Given the description of an element on the screen output the (x, y) to click on. 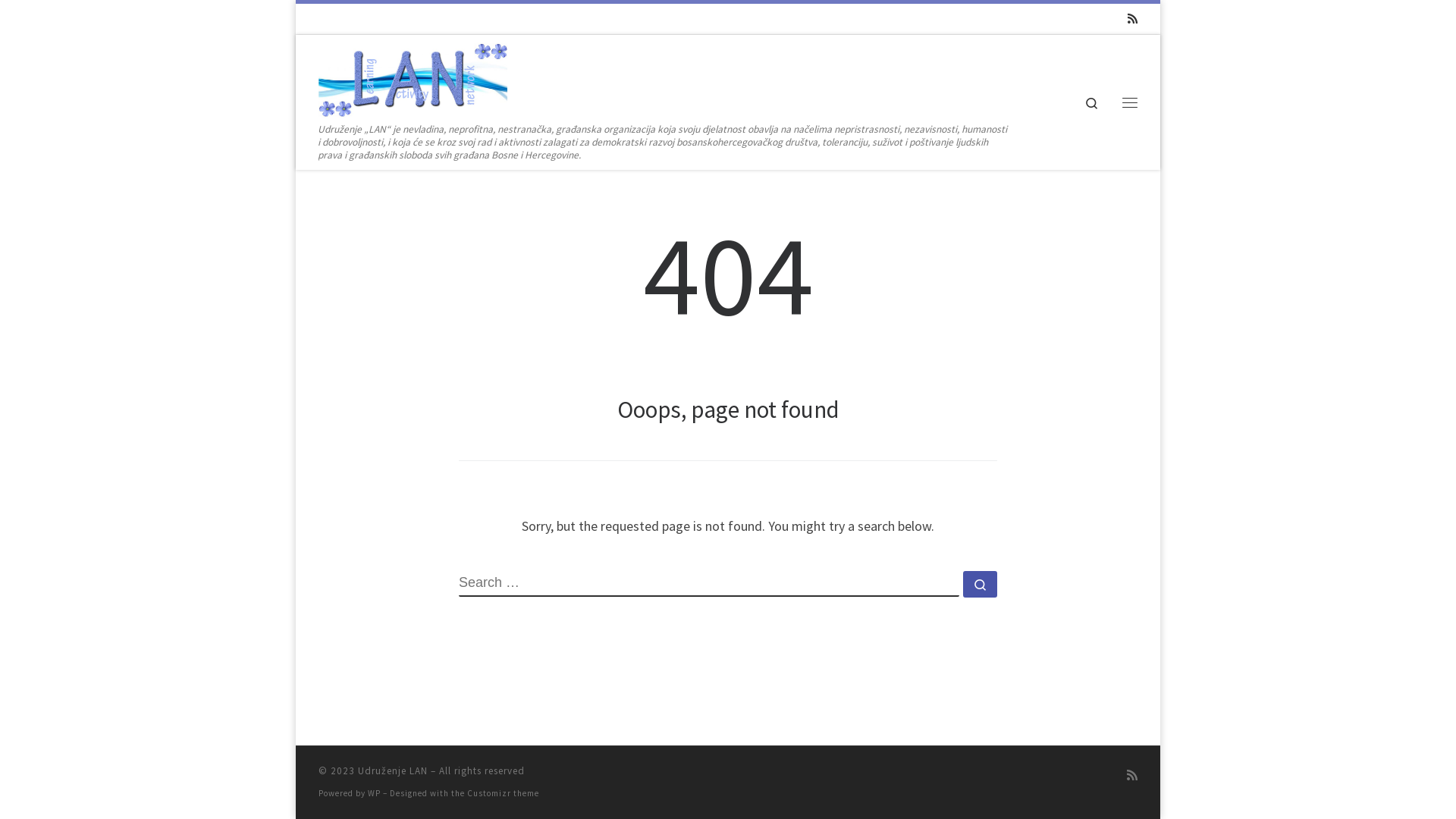
Menu Element type: text (1129, 102)
Customizr theme Element type: text (503, 792)
Subscribe to my rss feed Element type: hover (1132, 18)
Skip to content Element type: text (57, 21)
WP Element type: text (373, 792)
Search Element type: text (1091, 101)
Subscribe to my rss feed Element type: hover (1131, 774)
